Given the description of an element on the screen output the (x, y) to click on. 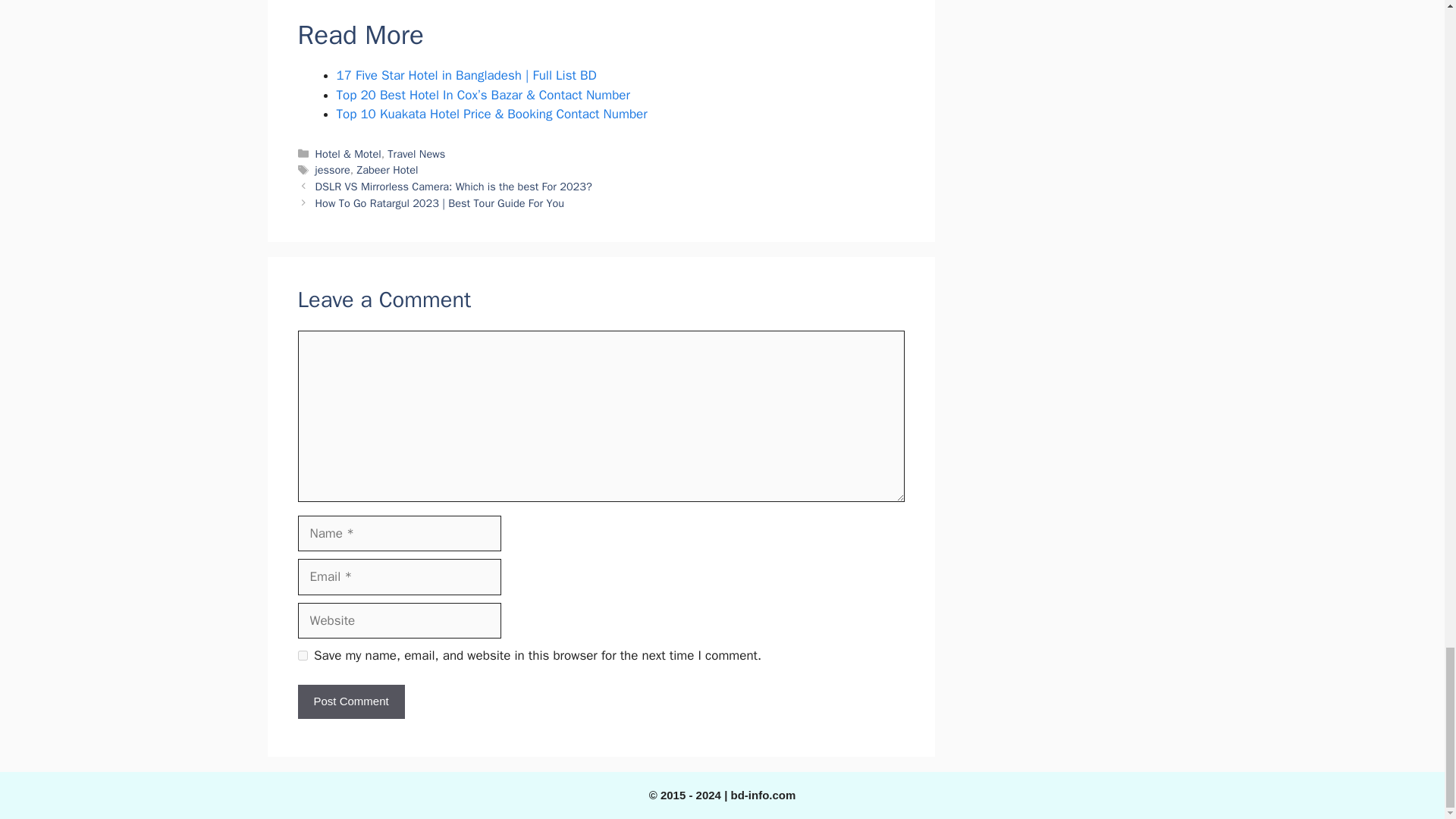
Travel News (416, 153)
yes (302, 655)
Post Comment (350, 701)
